Given the description of an element on the screen output the (x, y) to click on. 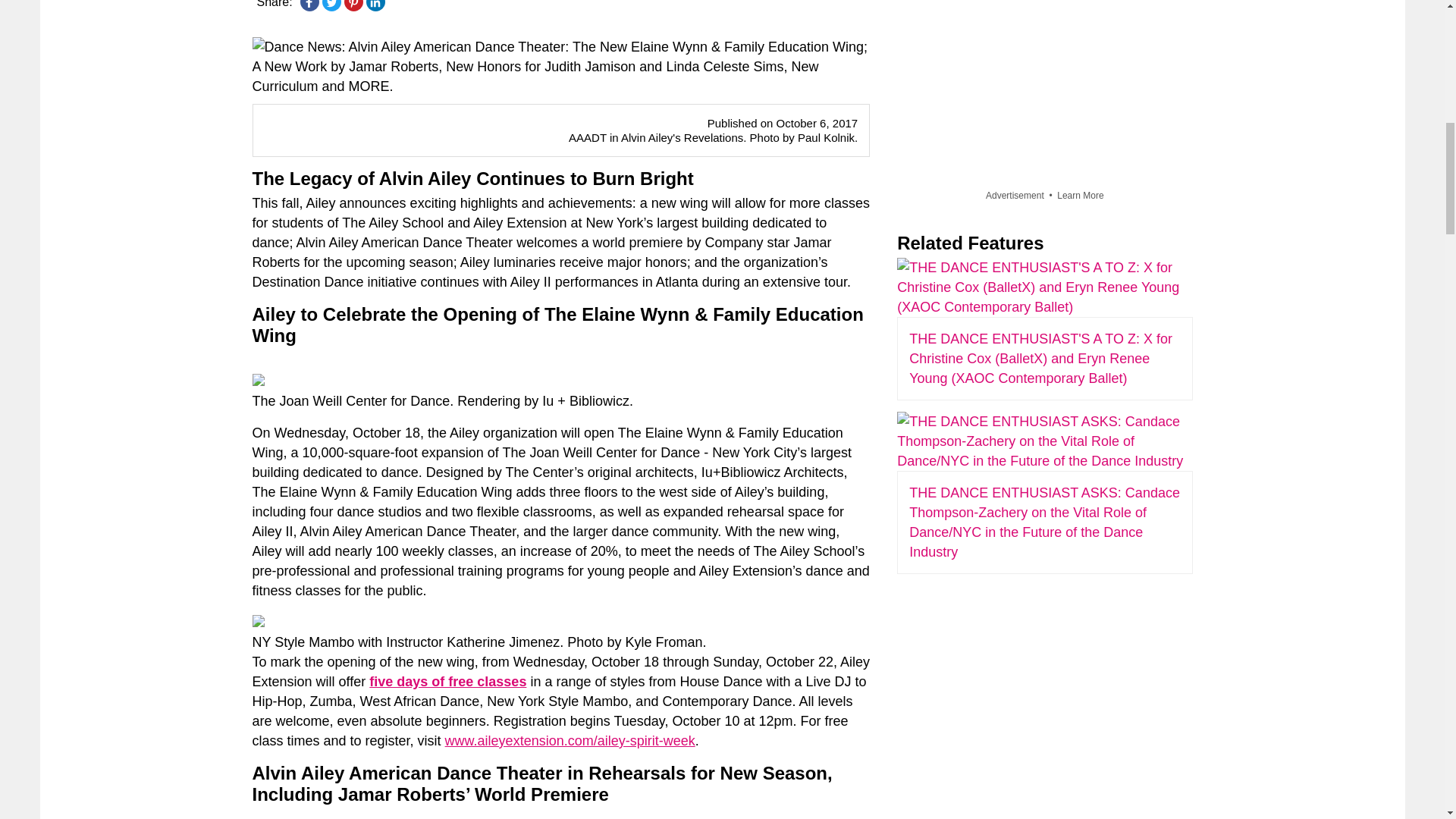
LinkedIn (375, 4)
Pinterest (353, 4)
Twitter (331, 4)
Facebook (309, 4)
